Given the description of an element on the screen output the (x, y) to click on. 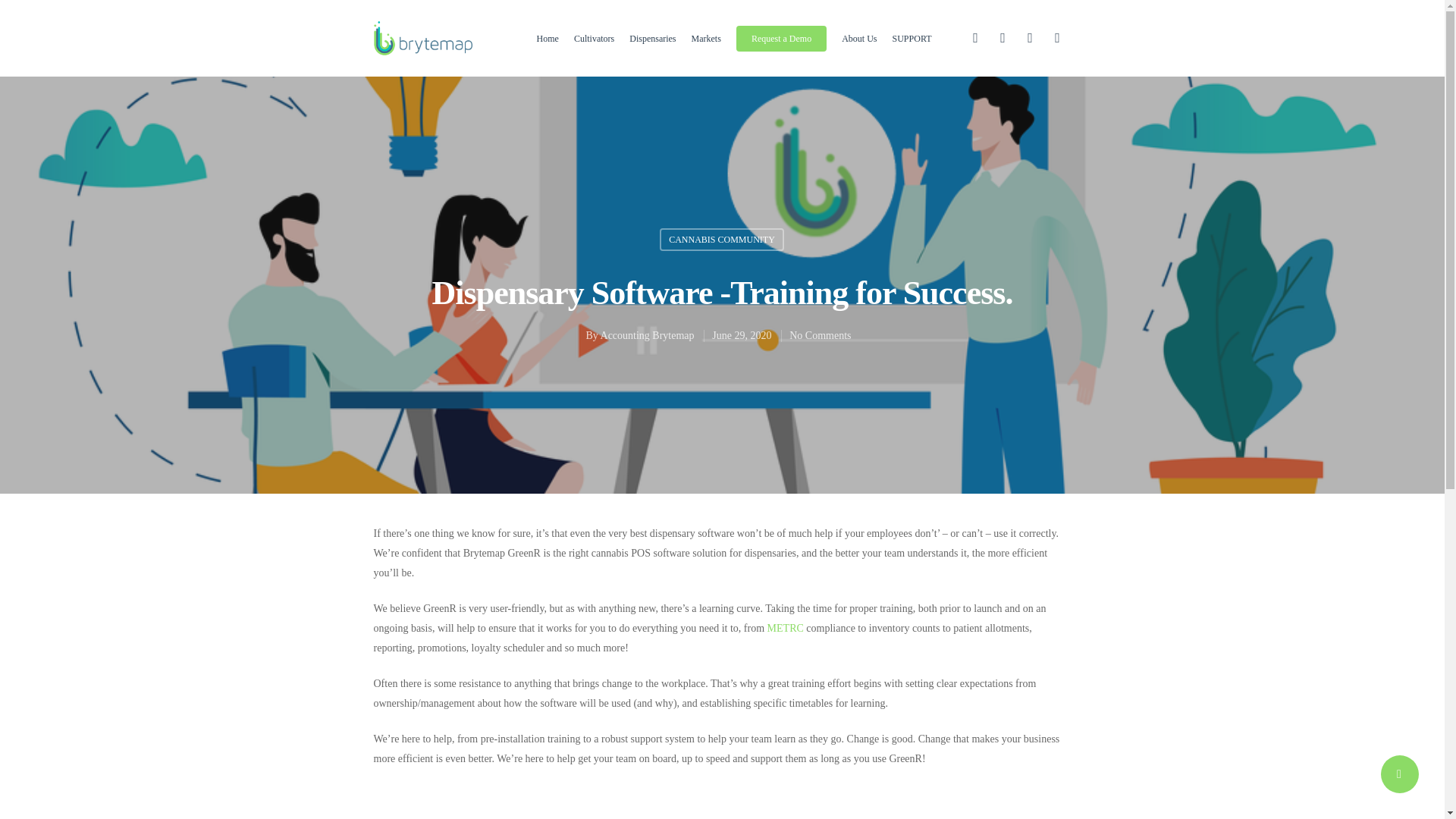
CANNABIS COMMUNITY (721, 239)
Dispensaries (651, 37)
About Us (858, 37)
No Comments (819, 335)
Cultivators (593, 37)
Markets (705, 37)
Request a Demo (781, 37)
Accounting Brytemap (646, 335)
Home (548, 37)
Posts by Accounting Brytemap (646, 335)
METRC (785, 627)
SUPPORT (911, 37)
